Given the description of an element on the screen output the (x, y) to click on. 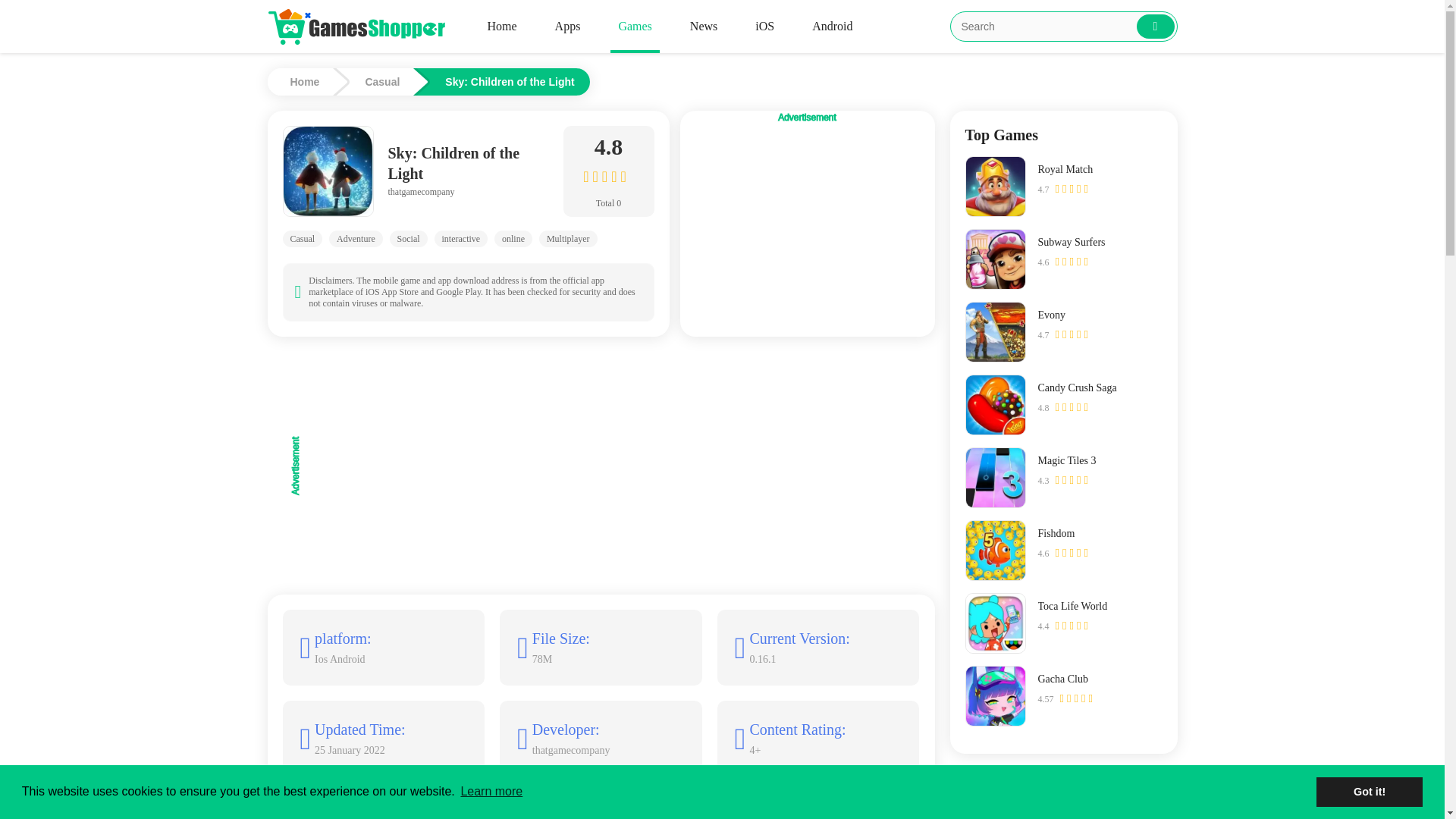
Casual (301, 238)
Accept (1369, 791)
Android (832, 26)
Social (409, 238)
Casual (389, 81)
Adventure (355, 238)
Learn more (491, 791)
Games (634, 26)
interactive (460, 238)
Learn more (788, 791)
online (513, 238)
Home (307, 81)
Multiplayer (567, 238)
